Given the description of an element on the screen output the (x, y) to click on. 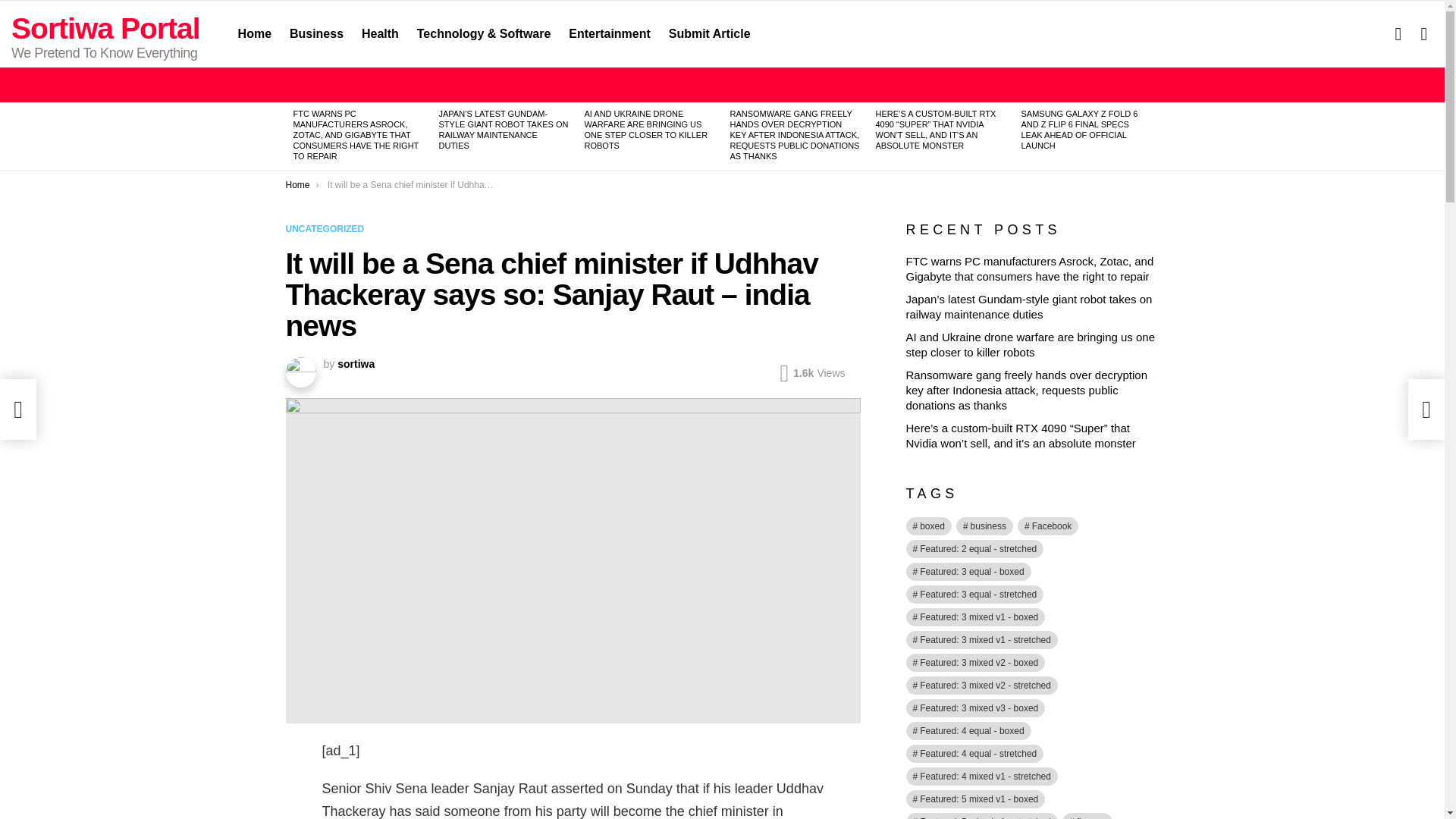
Health (379, 33)
Posts by sortiwa (355, 363)
Home (296, 184)
Sortiwa Portal (105, 28)
Business (316, 33)
UNCATEGORIZED (327, 228)
sortiwa (355, 363)
Home (254, 33)
Entertainment (609, 33)
Submit Article (709, 33)
